Given the description of an element on the screen output the (x, y) to click on. 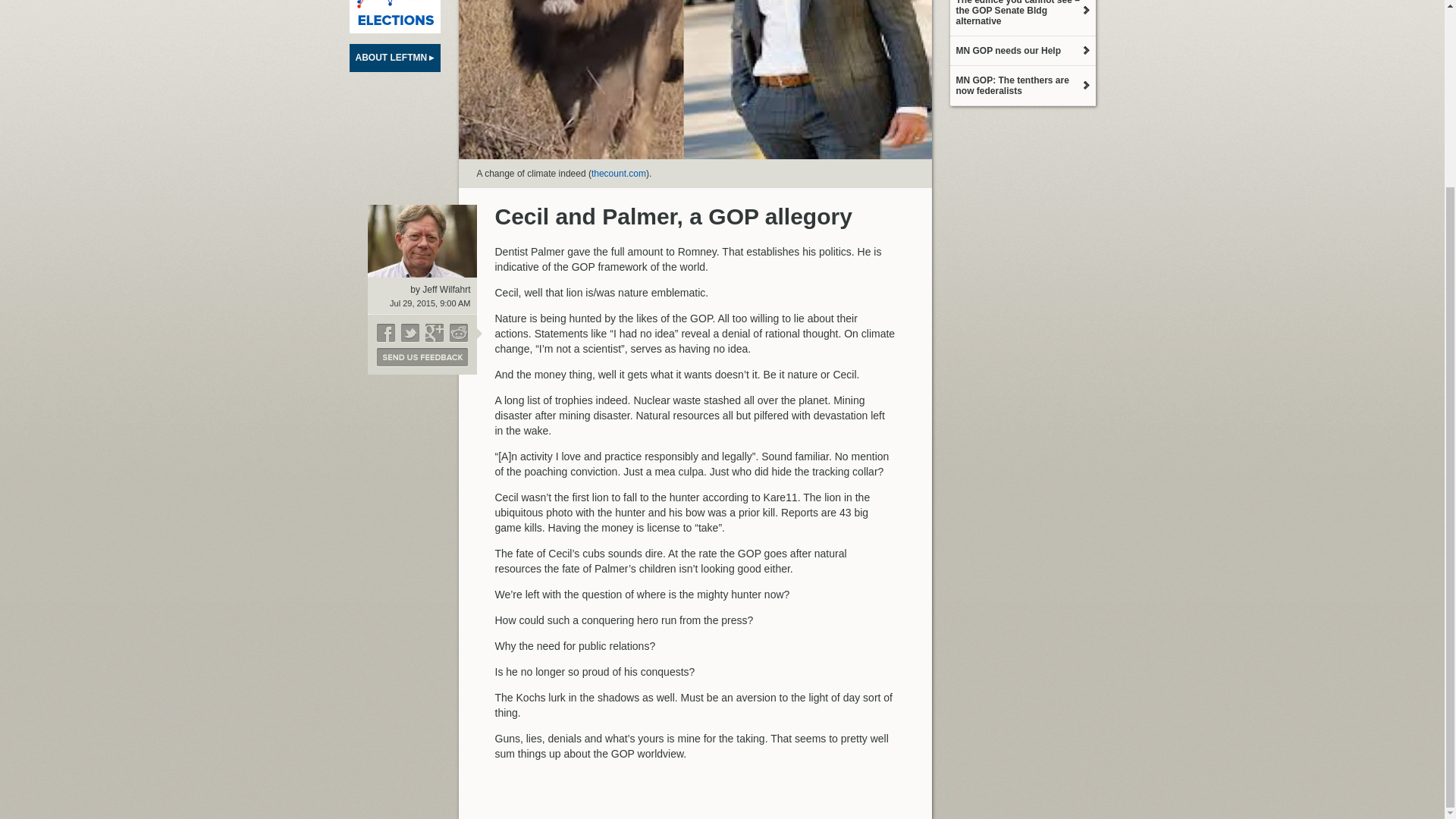
MN GOP: The tenthers are now federalists (1021, 85)
MN GOP needs our Help (1021, 50)
thecount.com (618, 173)
LeftMN Elections Site (394, 16)
